Given the description of an element on the screen output the (x, y) to click on. 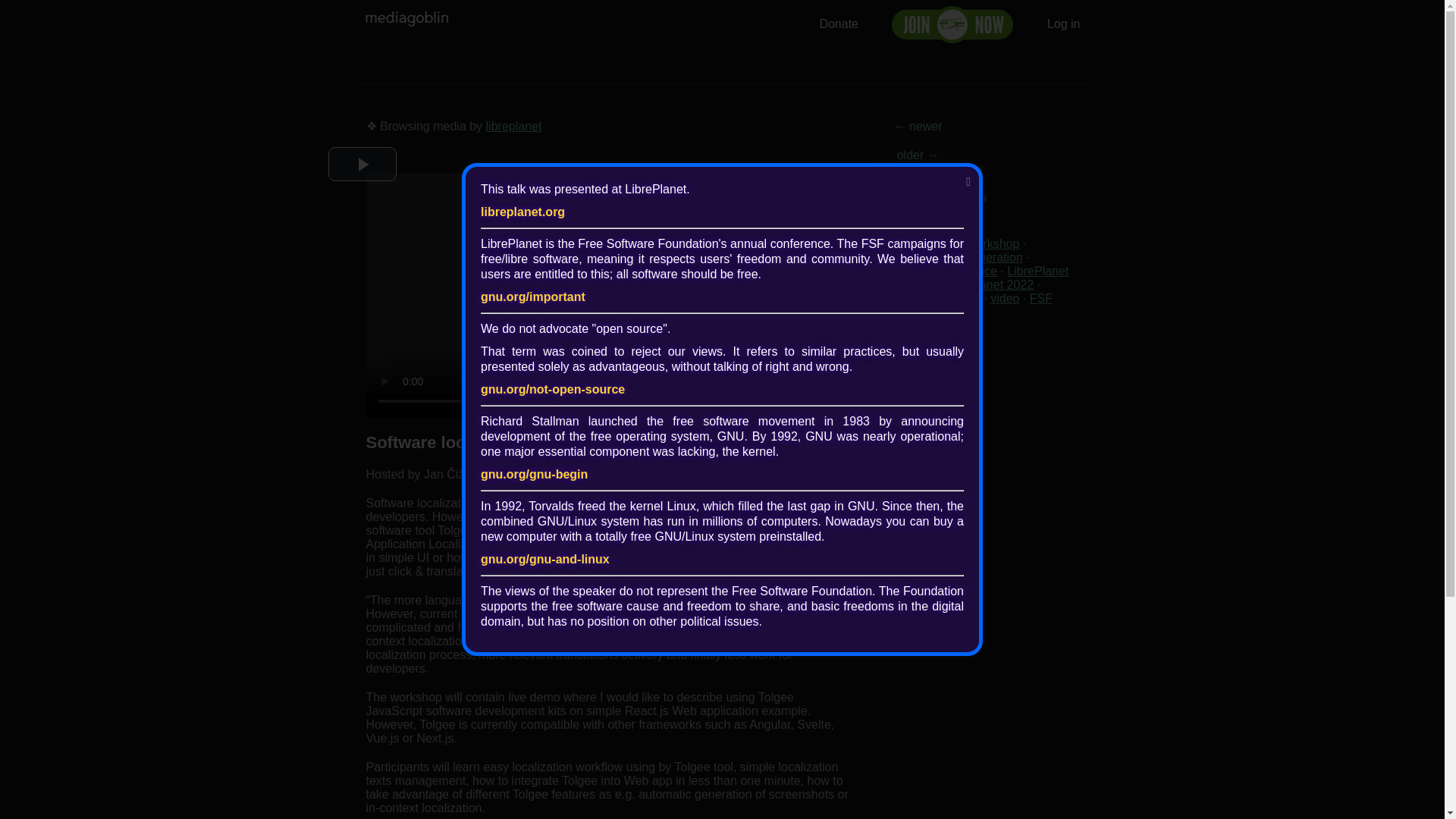
workshop (897, 256)
LibrePlanet 2022 workshop (945, 243)
Log in (1063, 23)
Play Video (361, 163)
video (1004, 297)
libreplanet (513, 125)
LibrePlanet 2022 (987, 284)
Living Liberation (978, 256)
CC BY-SA 4.0 (909, 344)
Donate (838, 23)
FSF (1040, 297)
LibrePlanet (902, 297)
LibrePlanet 2022 video (970, 277)
Play Video (361, 163)
libreplanet.org (522, 211)
